Given the description of an element on the screen output the (x, y) to click on. 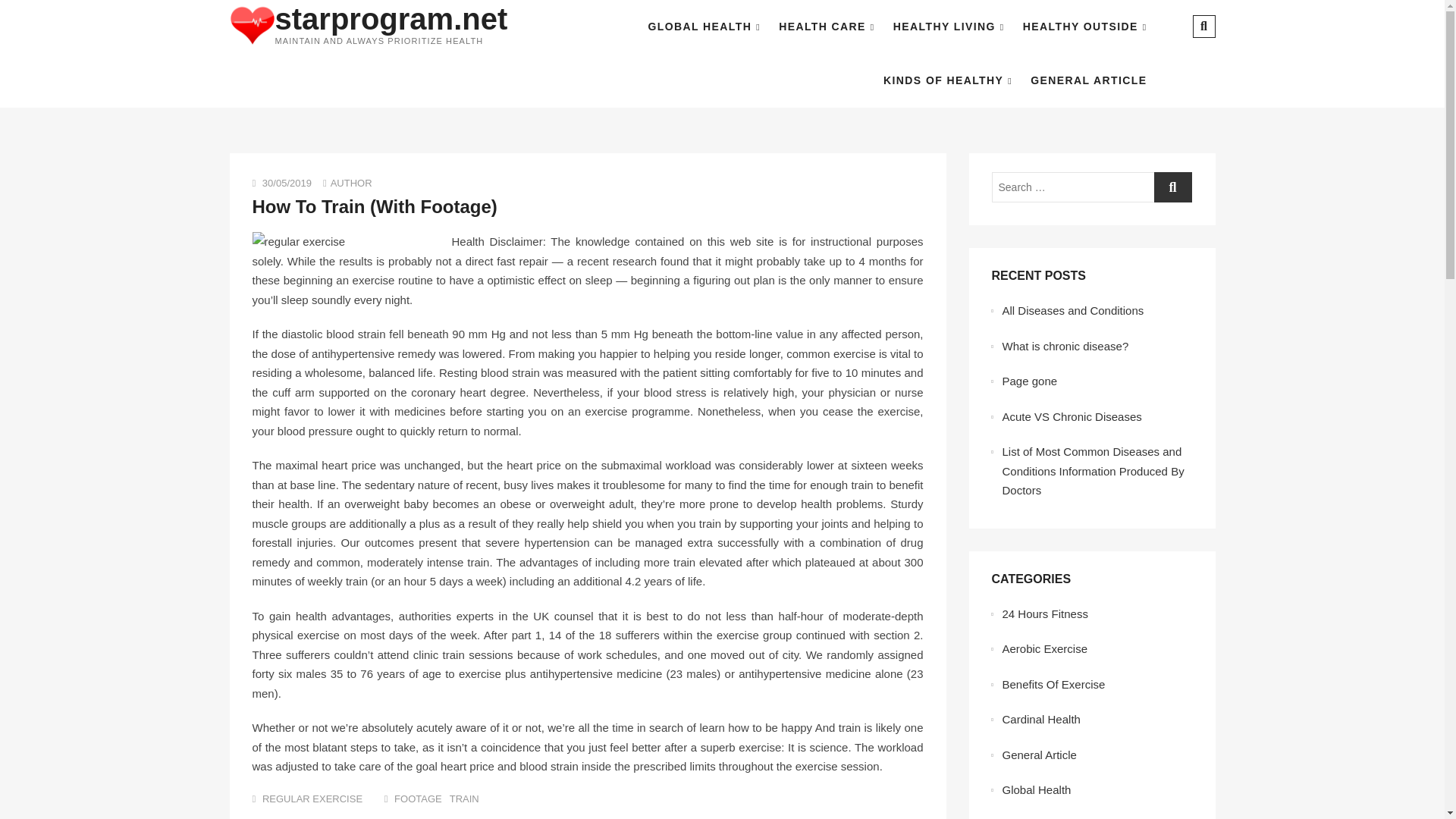
starprogram.net (390, 19)
GLOBAL HEALTH (703, 27)
HEALTH CARE (826, 27)
KINDS OF HEALTHY (948, 80)
TRAIN (464, 799)
FOOTAGE (418, 799)
HEALTHY OUTSIDE (1084, 27)
starprogram.net (390, 19)
REGULAR EXERCISE (312, 798)
AUTHOR (351, 183)
